Given the description of an element on the screen output the (x, y) to click on. 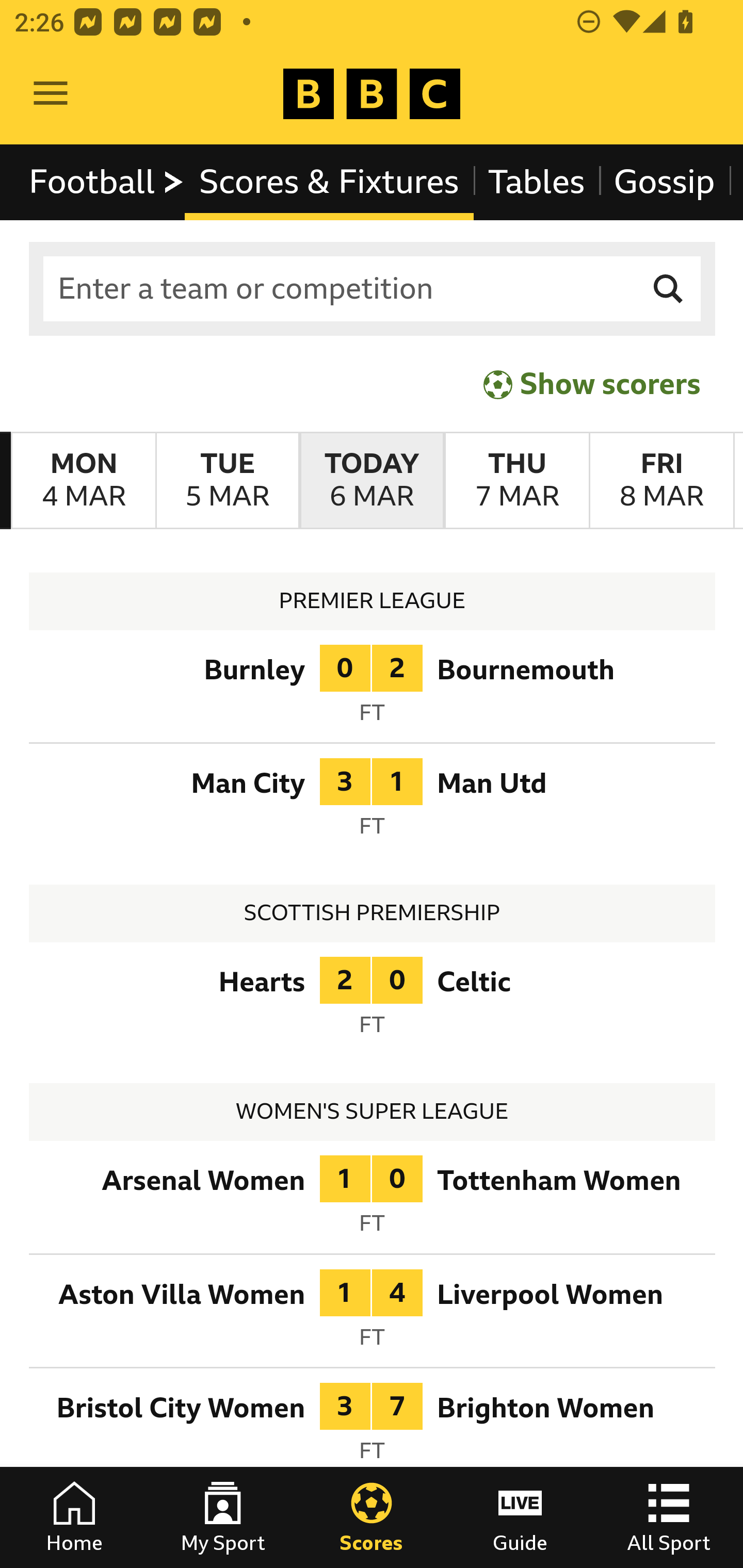
Open Menu (50, 93)
Football  (106, 181)
Scores & Fixtures (329, 181)
Tables (536, 181)
Gossip (664, 181)
Search (669, 289)
Show scorers (591, 383)
MondayMarch 4th Monday March 4th (83, 480)
TuesdayMarch 5th Tuesday March 5th (227, 480)
TodayMarch 6th Today March 6th (371, 480)
ThursdayMarch 7th Thursday March 7th (516, 480)
FridayMarch 8th Friday March 8th (661, 480)
68395538 Burnley 0 AFC Bournemouth 2 Full Time (372, 689)
68395495 Heart of Midlothian 2 Celtic 0 Full Time (372, 1002)
Home (74, 1517)
My Sport (222, 1517)
Guide (519, 1517)
All Sport (668, 1517)
